Given the description of an element on the screen output the (x, y) to click on. 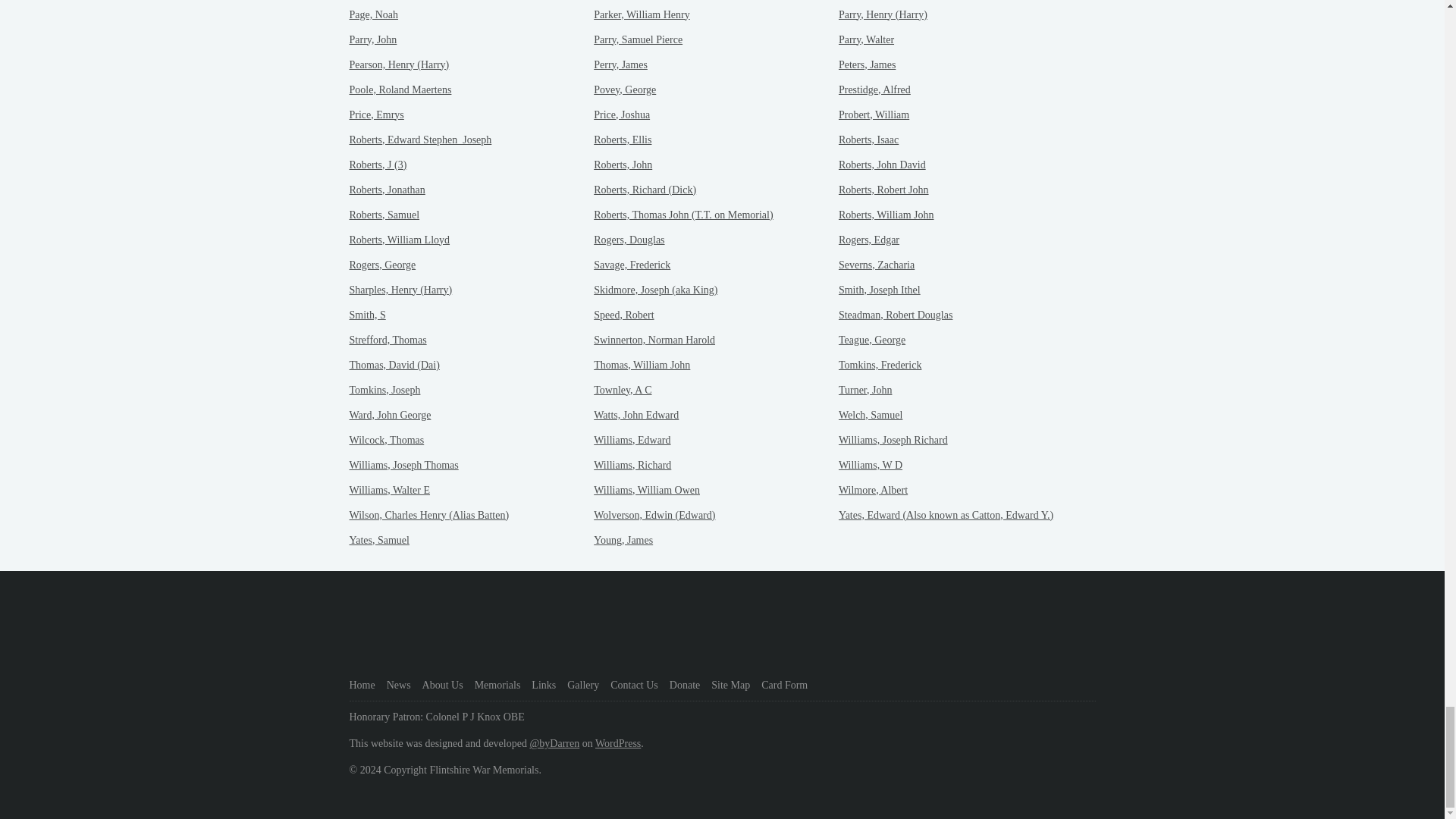
WordPress (617, 743)
